Given the description of an element on the screen output the (x, y) to click on. 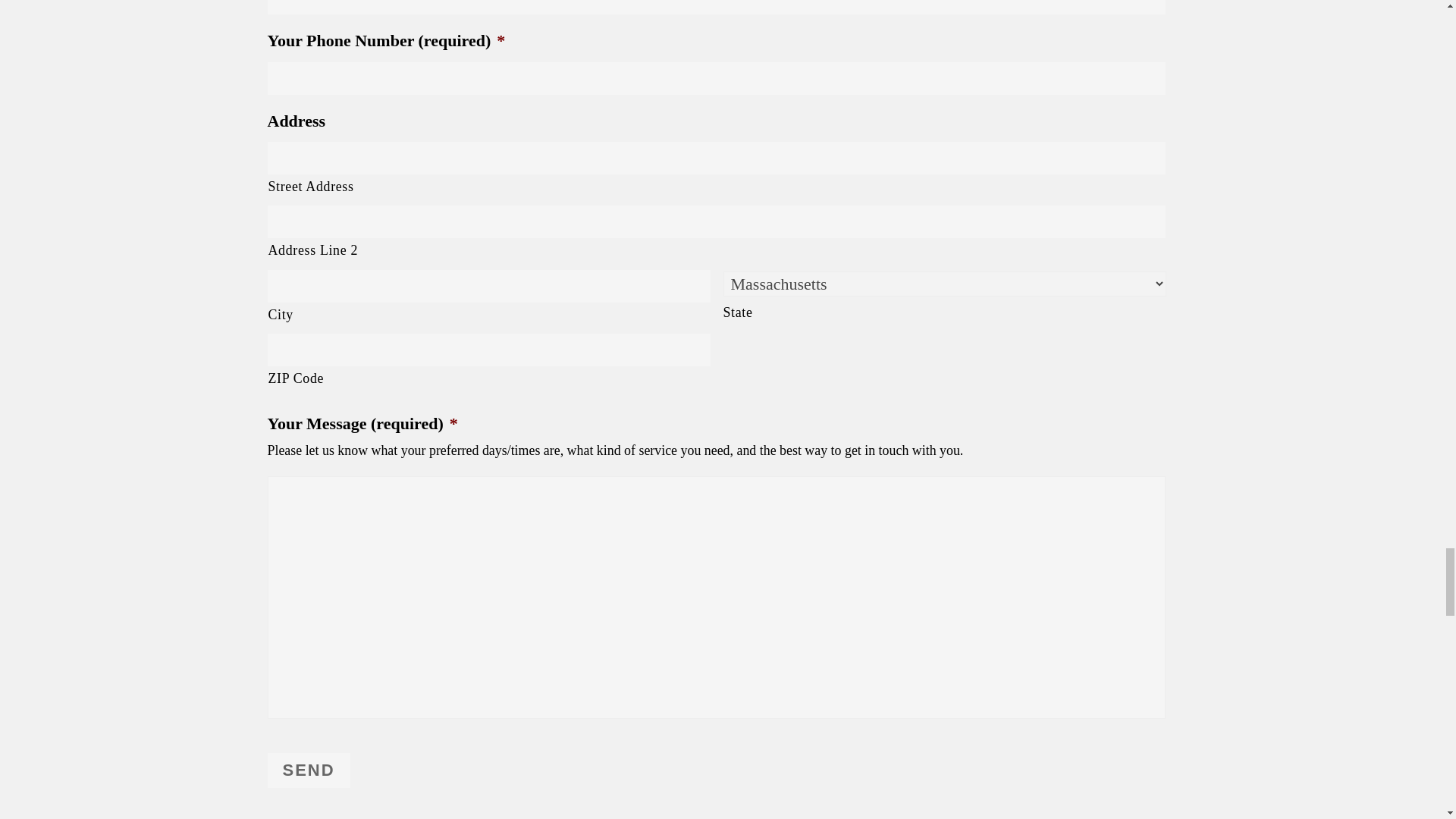
Send (307, 769)
